Given the description of an element on the screen output the (x, y) to click on. 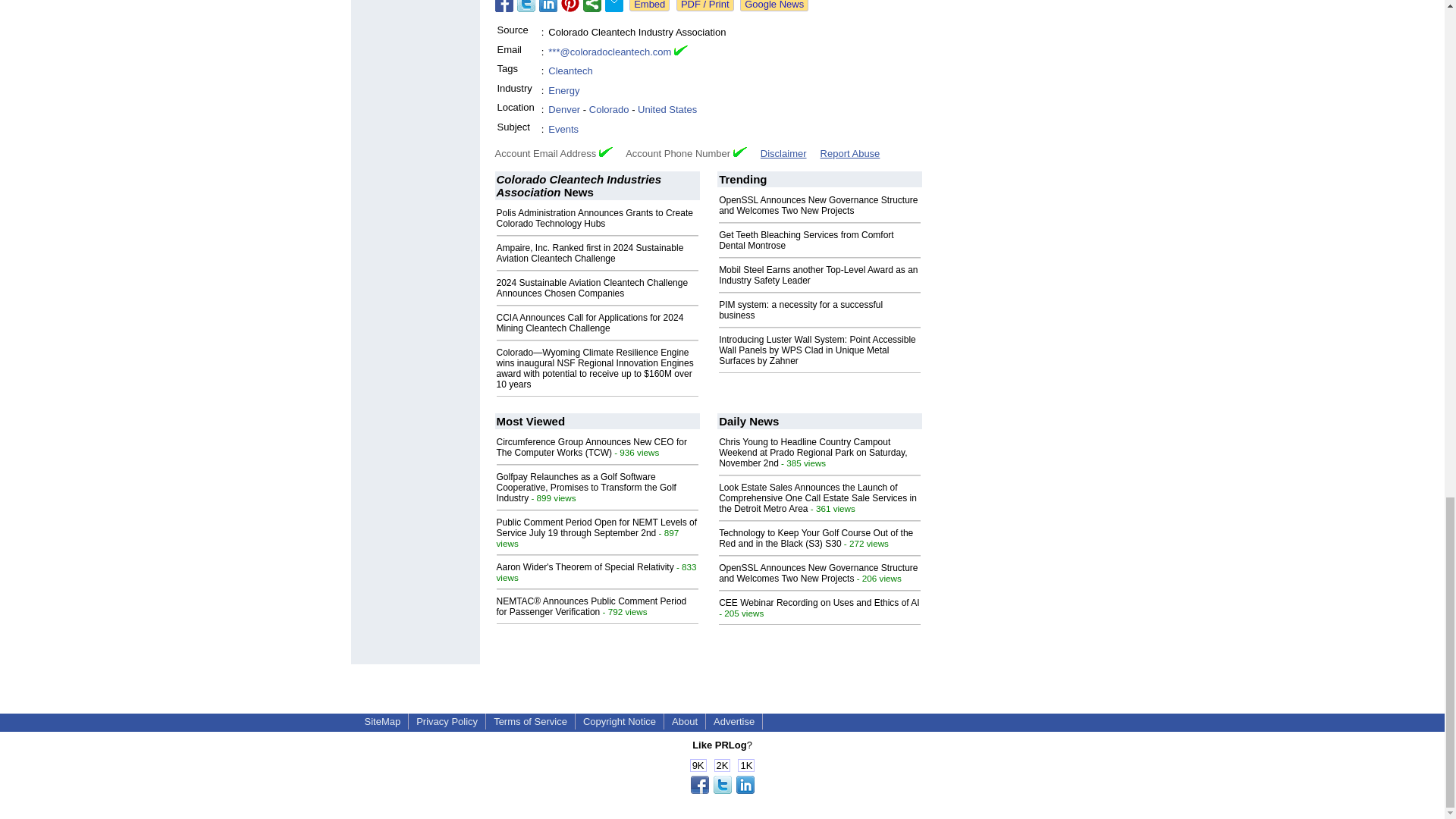
Share on Facebook (503, 6)
Verified (739, 152)
Share on StumbleUpon, Digg, etc (590, 6)
Share on Twitter (525, 6)
Share this page! (722, 790)
Share on LinkedIn (547, 6)
Verified (605, 152)
See or print the PDF version! (705, 5)
Email Verified (680, 52)
Embed (648, 5)
Email to a Friend (614, 6)
Share on Pinterest (569, 6)
Embed this press release in your website! (648, 5)
